Given the description of an element on the screen output the (x, y) to click on. 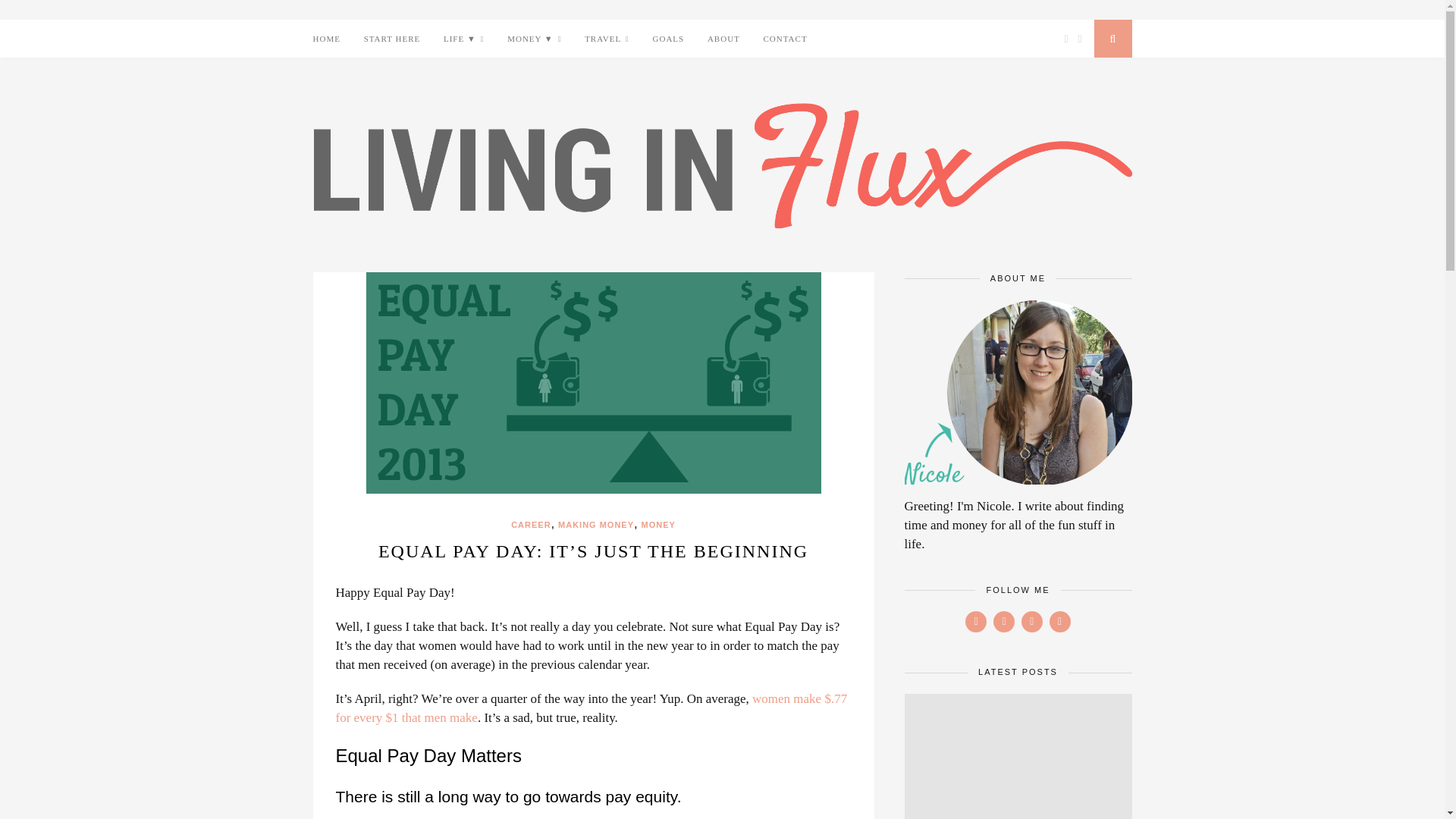
START HERE (392, 38)
TRAVEL (606, 38)
The Simple Truth About the Gender Wage Gap - AAUW (590, 707)
CONTACT (785, 38)
